Given the description of an element on the screen output the (x, y) to click on. 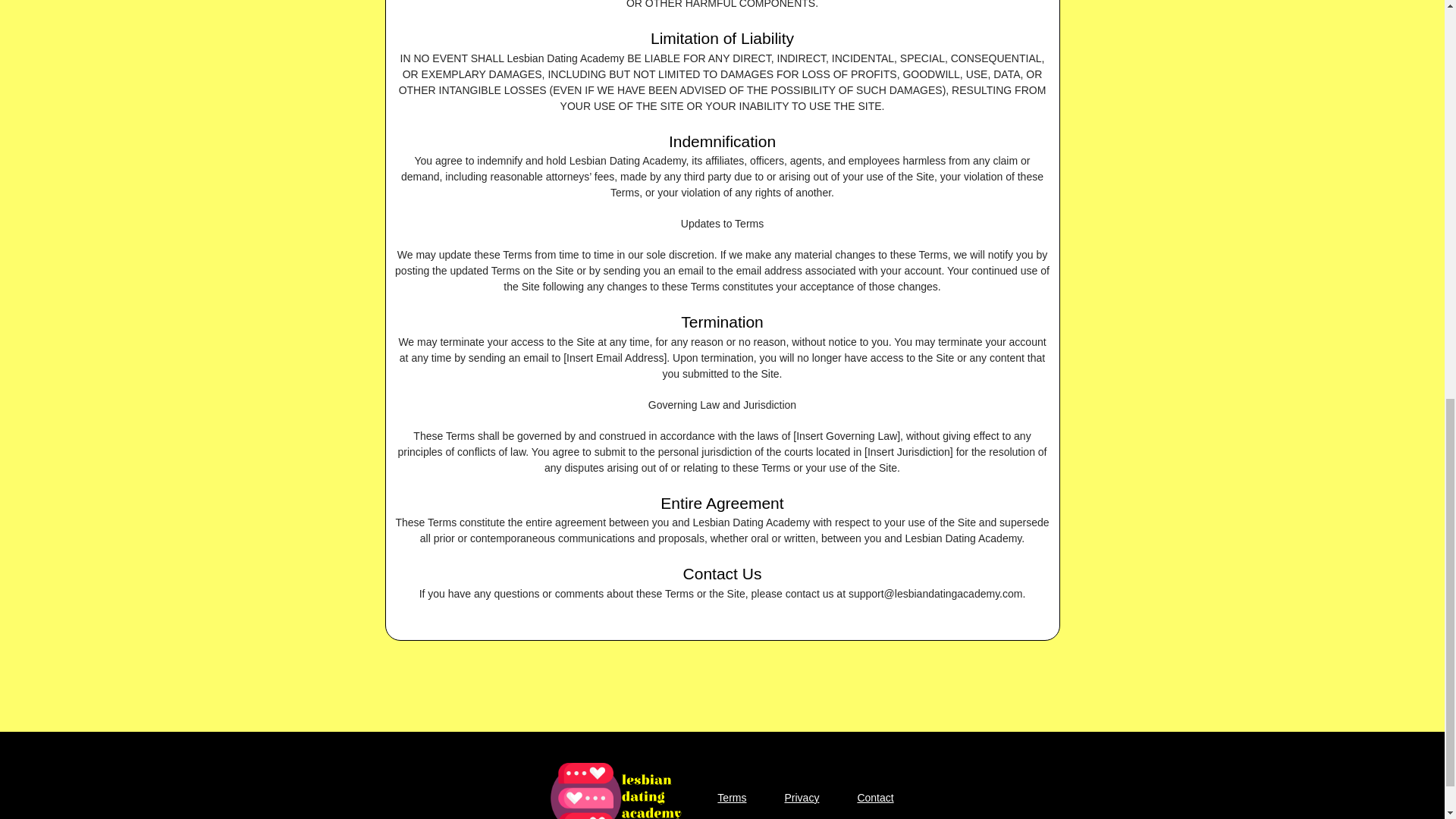
Privacy (801, 797)
Contact (875, 797)
Terms (731, 797)
